Given the description of an element on the screen output the (x, y) to click on. 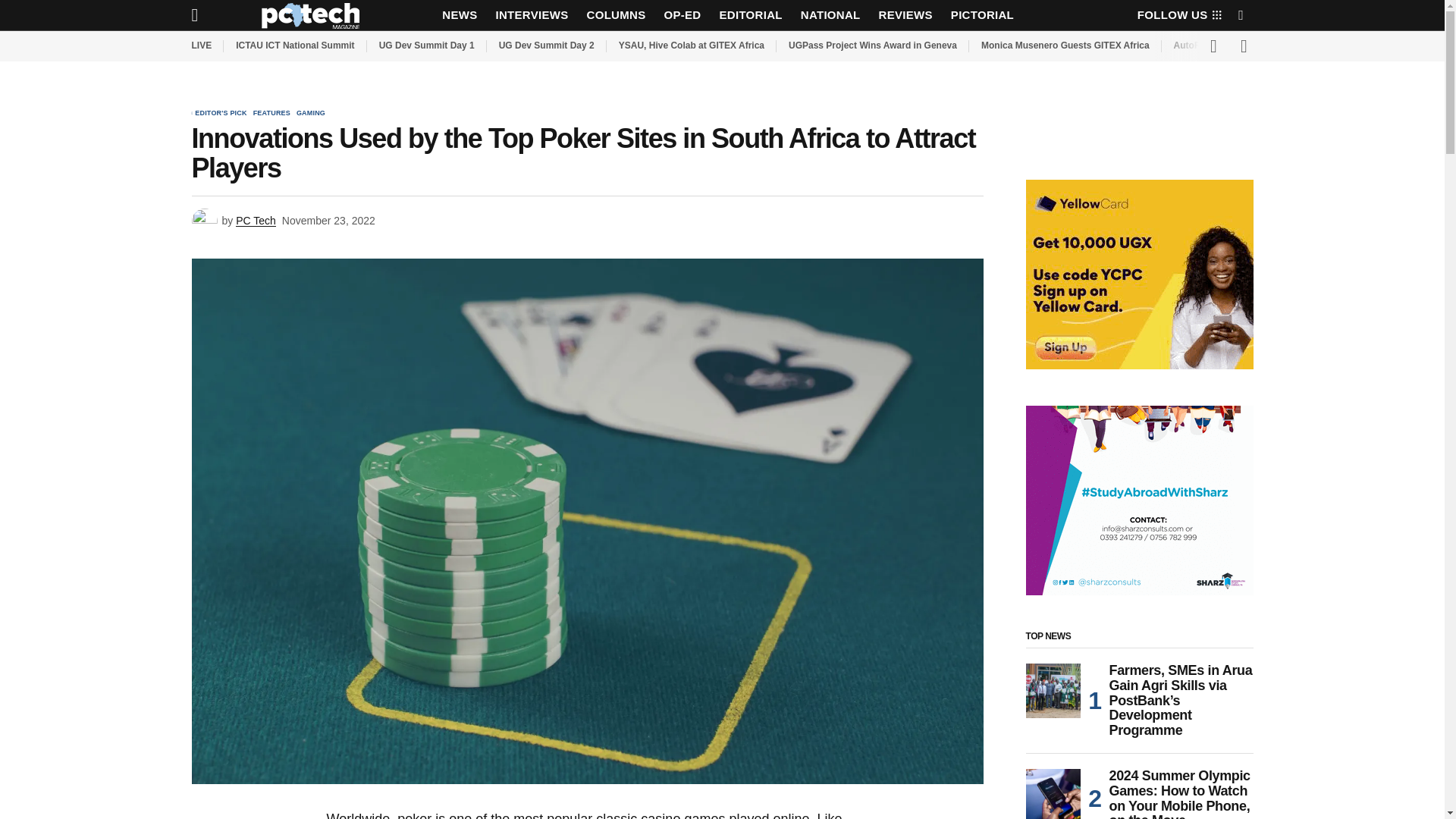
NEWS (459, 15)
